Given the description of an element on the screen output the (x, y) to click on. 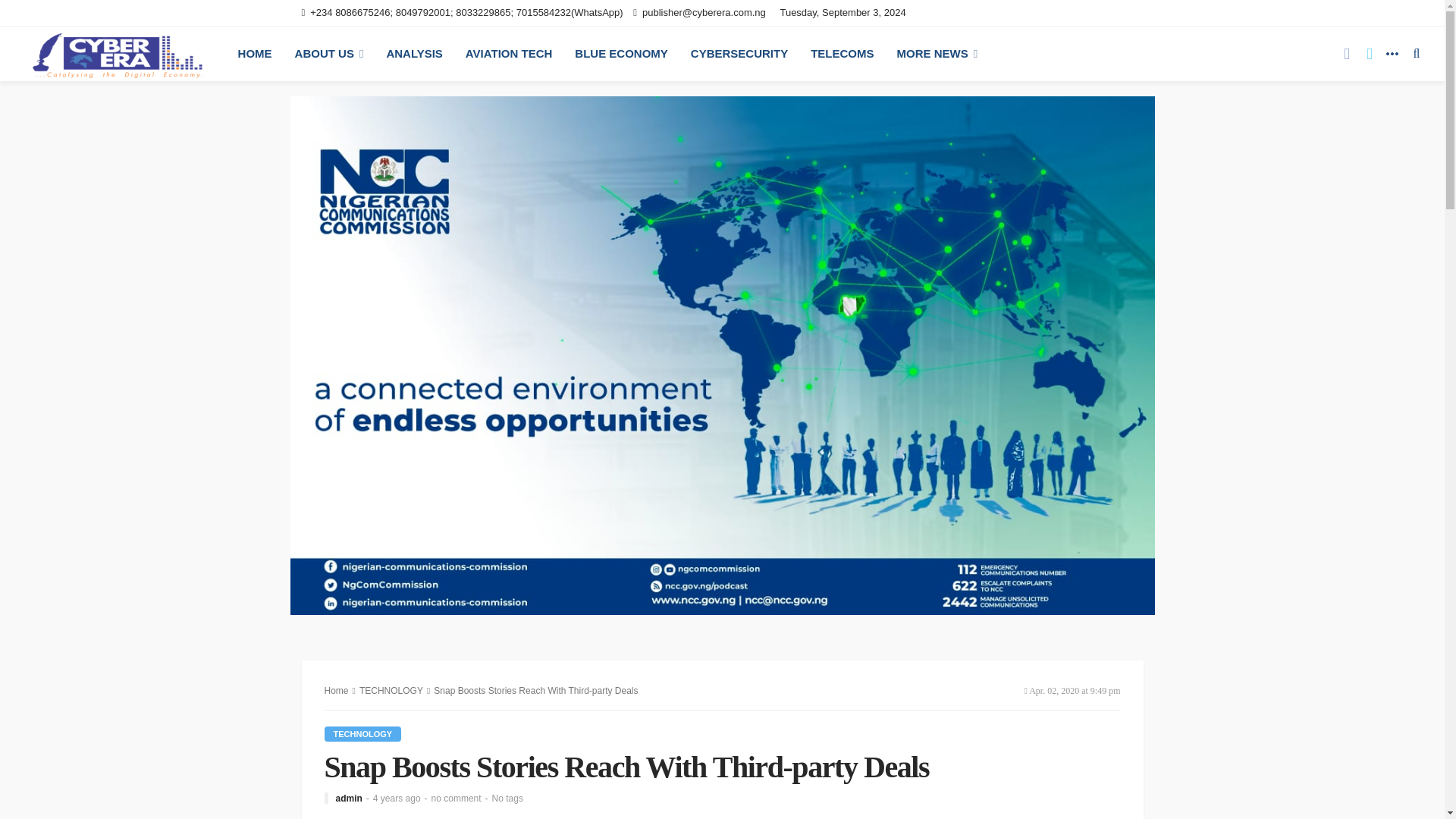
Snap Boosts Stories Reach With Third-party Deals (455, 798)
CYBER ERA: Catalyzing the Digital Economy (116, 53)
TECHNOLOGY (362, 734)
